Given the description of an element on the screen output the (x, y) to click on. 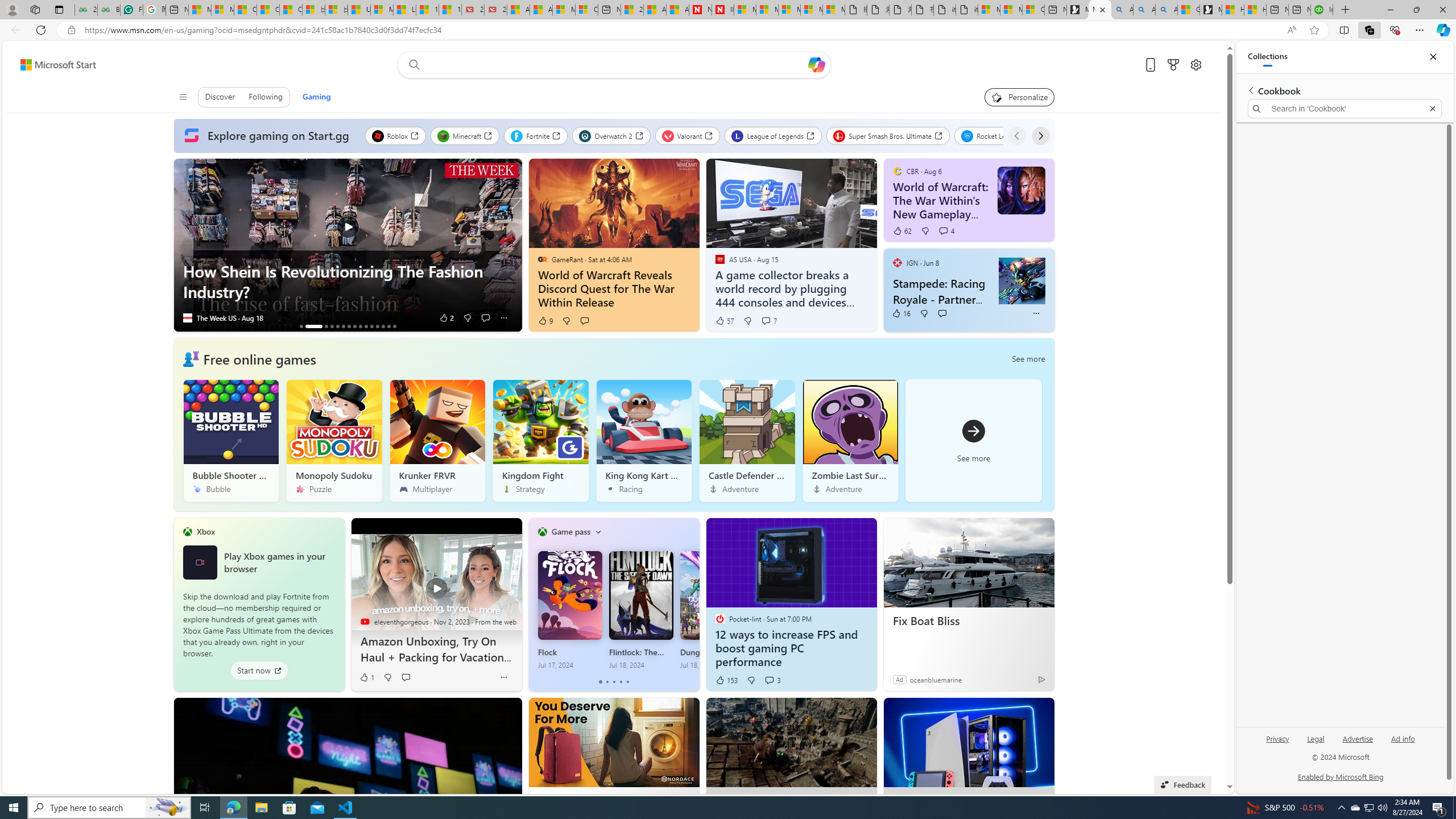
Next (1039, 135)
Illness news & latest pictures from Newsweek.com (722, 9)
League of Legends (773, 135)
View comments 4 Comment (943, 230)
Class: background-image-ntp-v2 (850, 422)
oceanbluemarine (936, 678)
Select Category (598, 531)
21 Movies That Outdid the Books They Were Based On (495, 9)
